Given the description of an element on the screen output the (x, y) to click on. 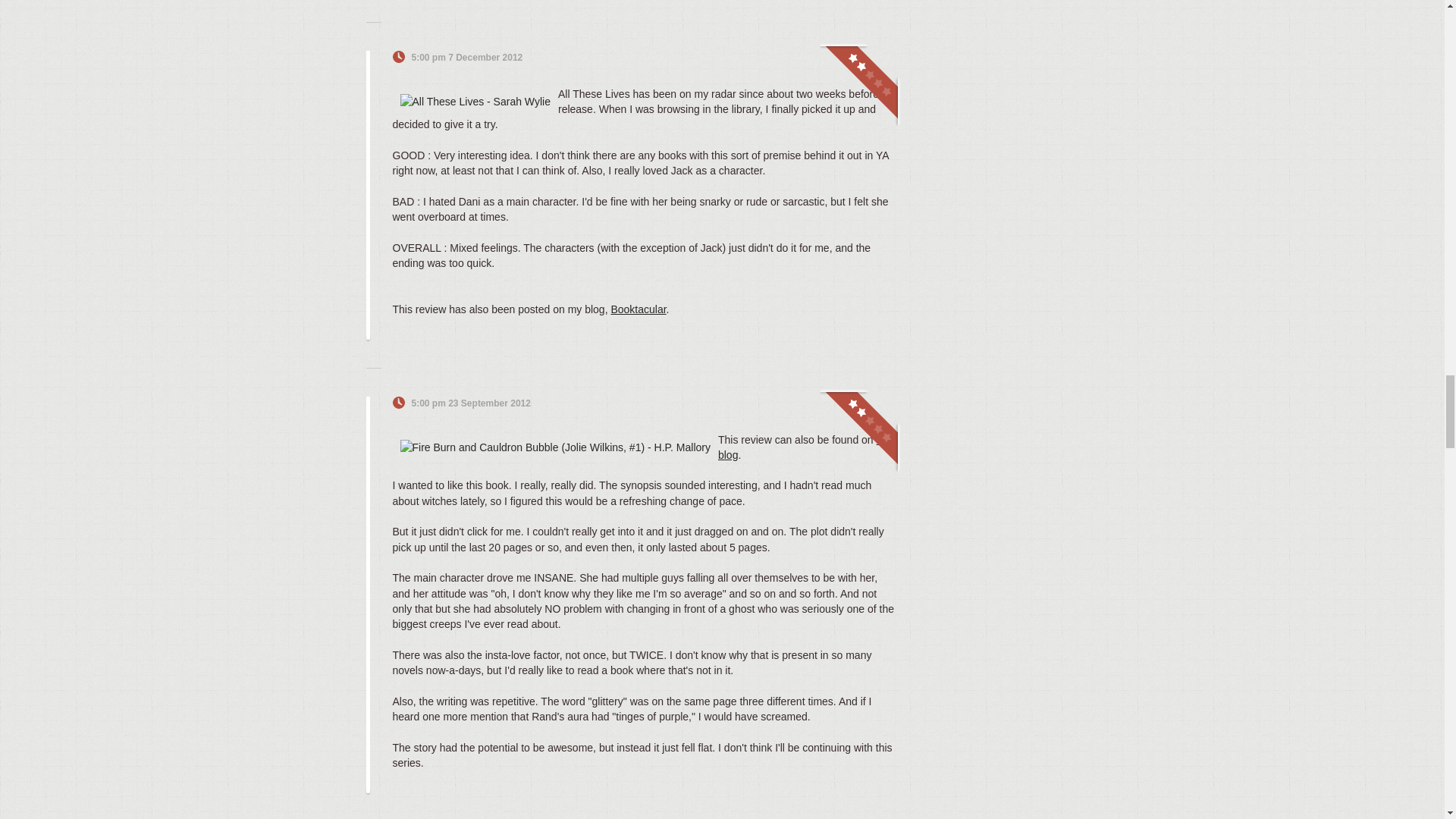
Tweet (849, 57)
5:00 pm 7 December 2012 (466, 57)
